Given the description of an element on the screen output the (x, y) to click on. 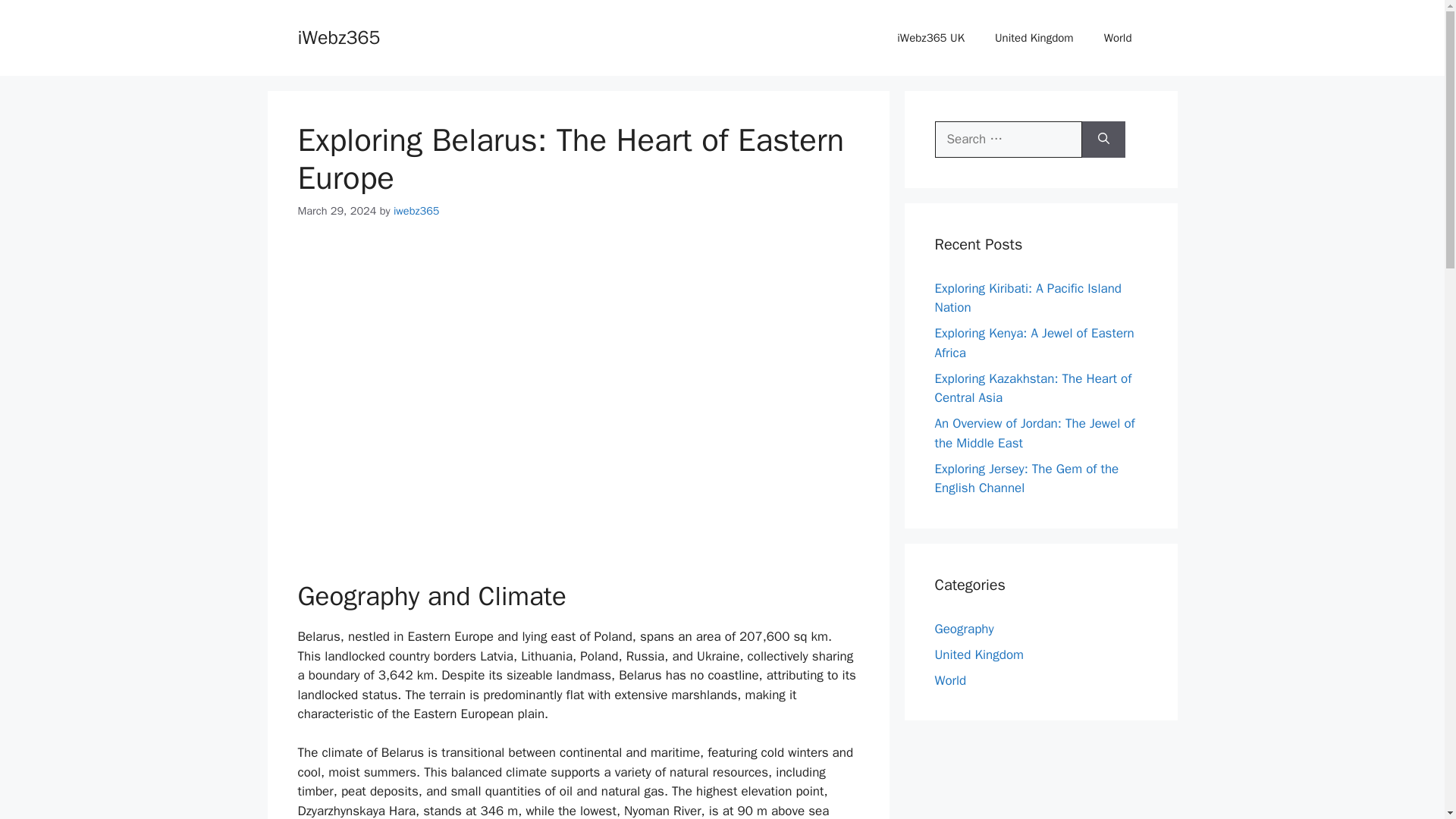
Exploring Kiribati: A Pacific Island Nation (1027, 298)
iWebz365 UK (930, 37)
United Kingdom (978, 653)
Exploring Kazakhstan: The Heart of Central Asia (1032, 387)
iwebz365 (416, 210)
View all posts by iwebz365 (416, 210)
Exploring Jersey: The Gem of the English Channel (1026, 478)
iWebz365 (338, 37)
World (1118, 37)
United Kingdom (1034, 37)
World (950, 679)
Exploring Kenya: A Jewel of Eastern Africa (1034, 343)
Search for: (1007, 139)
An Overview of Jordan: The Jewel of the Middle East (1034, 433)
Geography (963, 627)
